Given the description of an element on the screen output the (x, y) to click on. 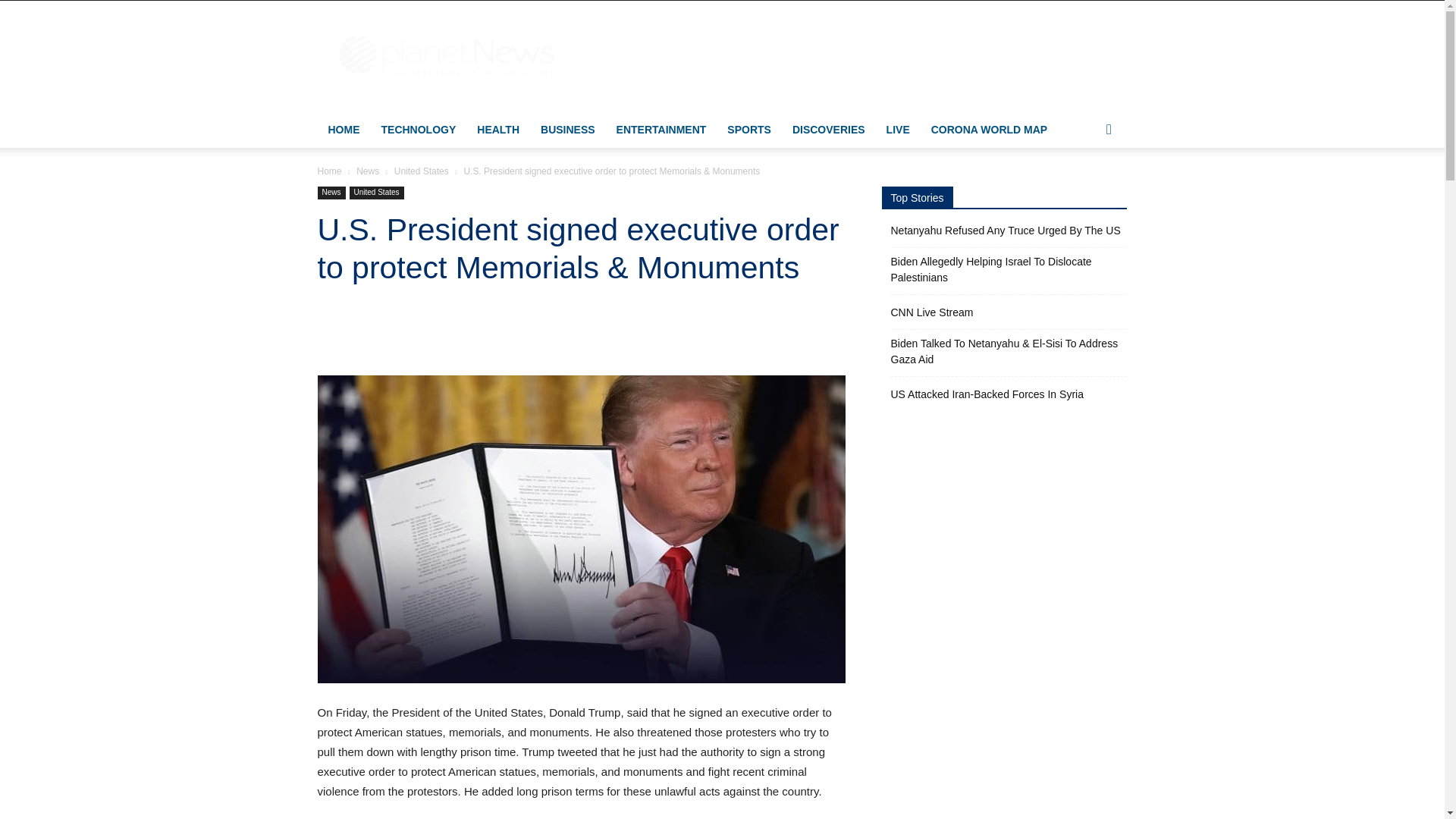
United States (421, 171)
Home (328, 171)
LIVE (898, 129)
CORONA WORLD MAP (989, 129)
BUSINESS (567, 129)
View all posts in United States (421, 171)
News (331, 192)
HEALTH (497, 129)
ENTERTAINMENT (661, 129)
HOME (343, 129)
